Given the description of an element on the screen output the (x, y) to click on. 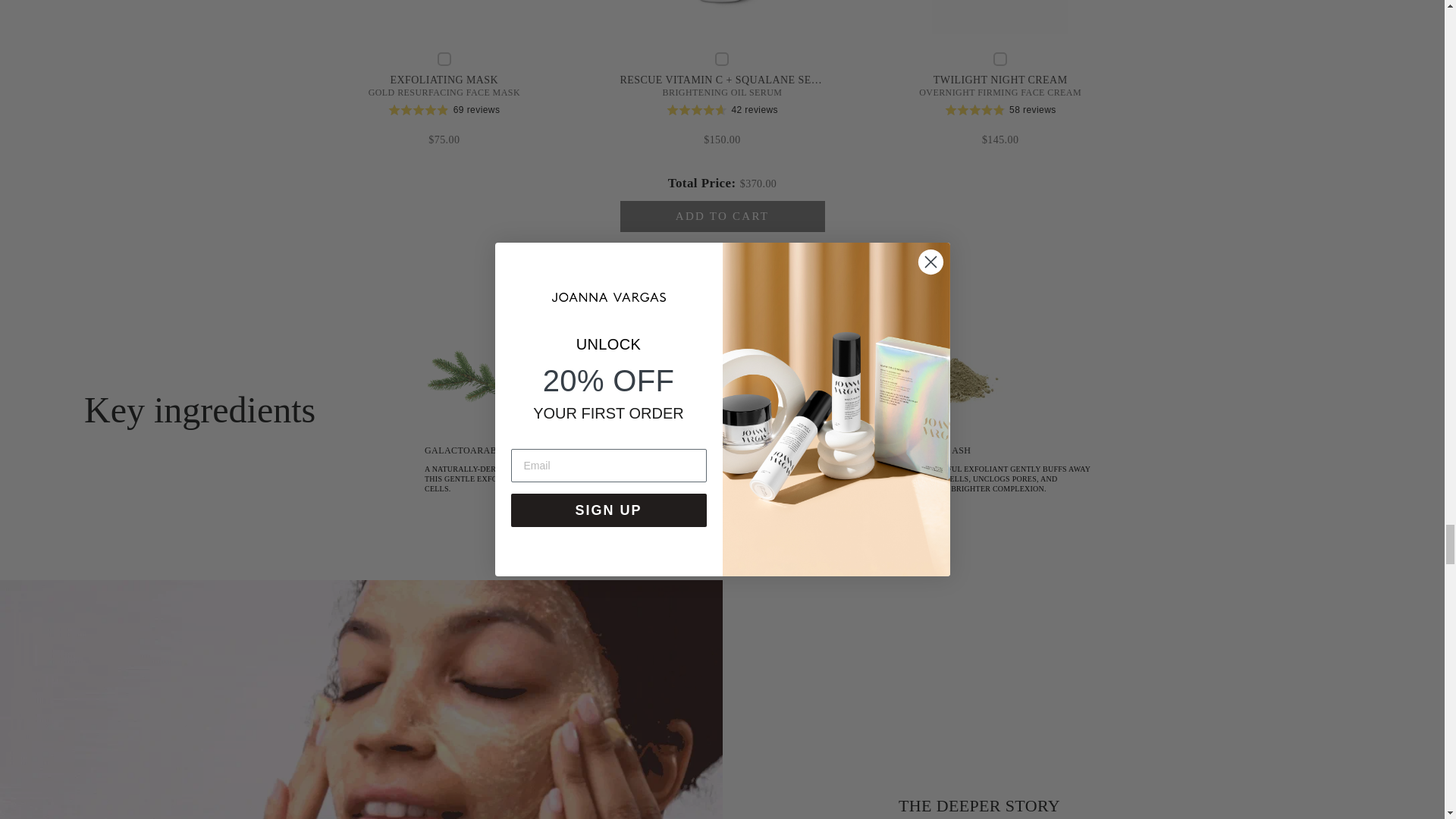
on (444, 59)
on (999, 59)
on (721, 59)
